Given the description of an element on the screen output the (x, y) to click on. 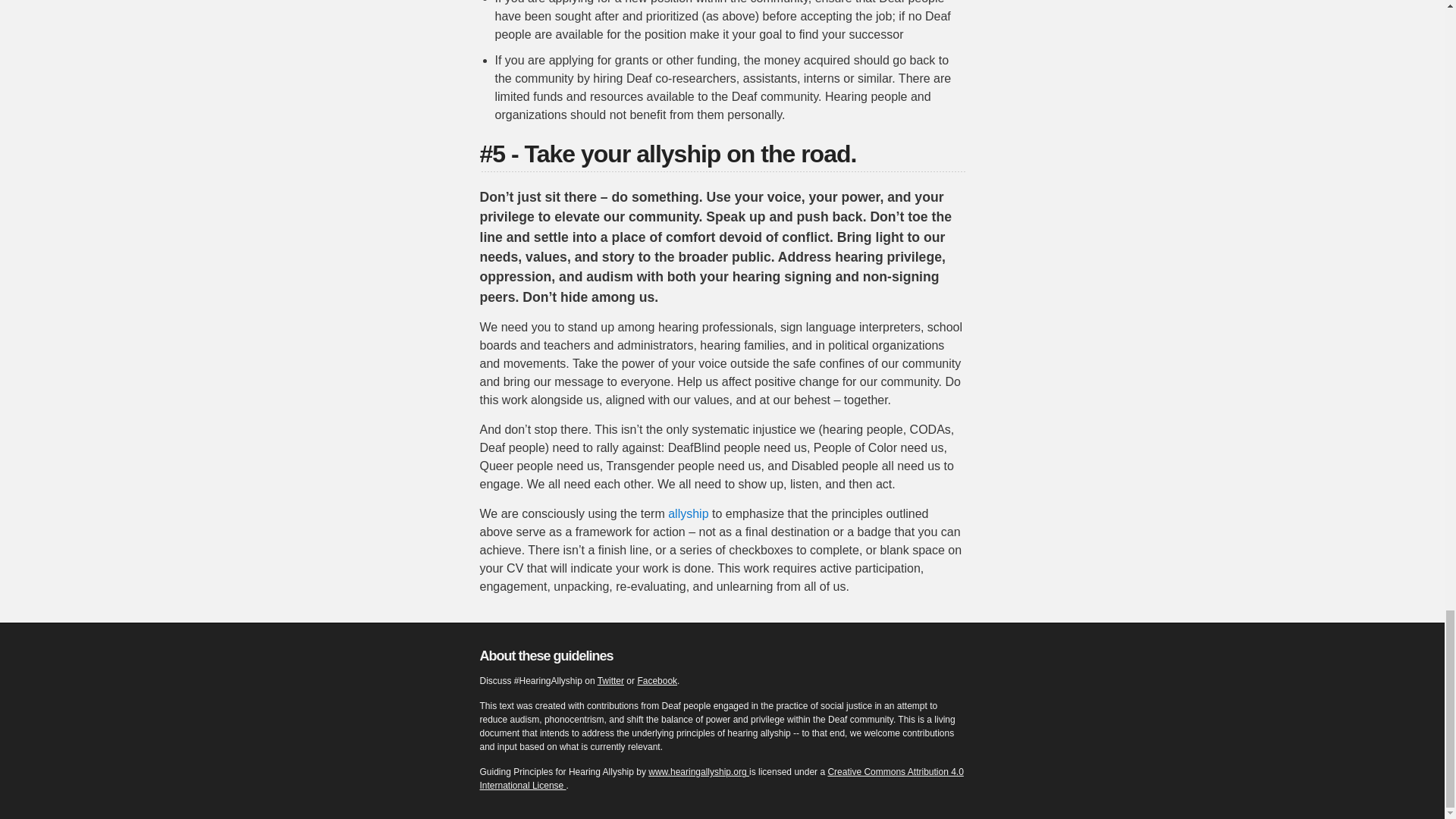
Twitter (610, 680)
www.hearingallyship.org (698, 771)
Facebook (657, 680)
allyship (687, 513)
Creative Commons Attribution 4.0 International License (720, 778)
